Given the description of an element on the screen output the (x, y) to click on. 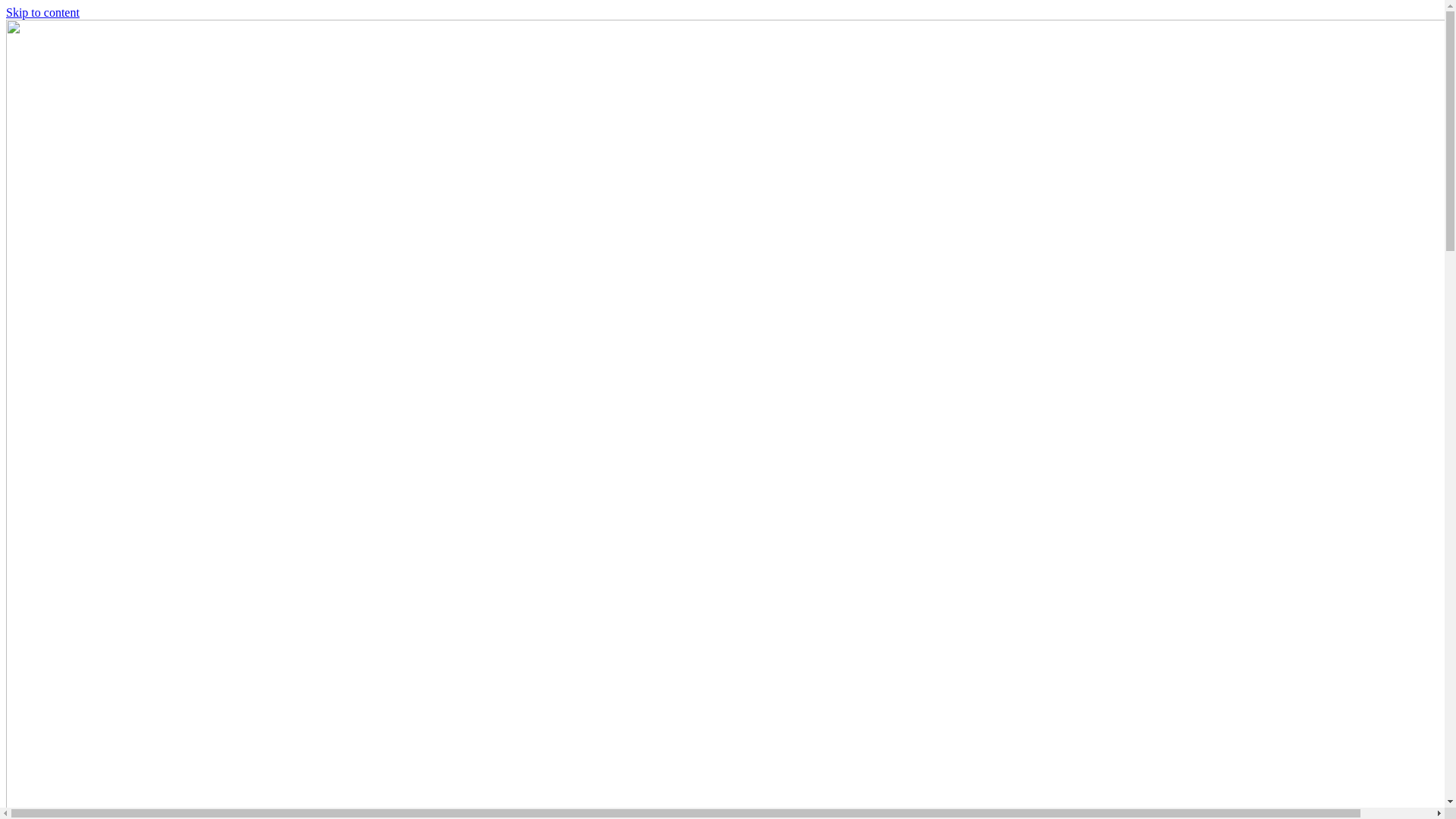
Skip to content Element type: text (42, 12)
